Given the description of an element on the screen output the (x, y) to click on. 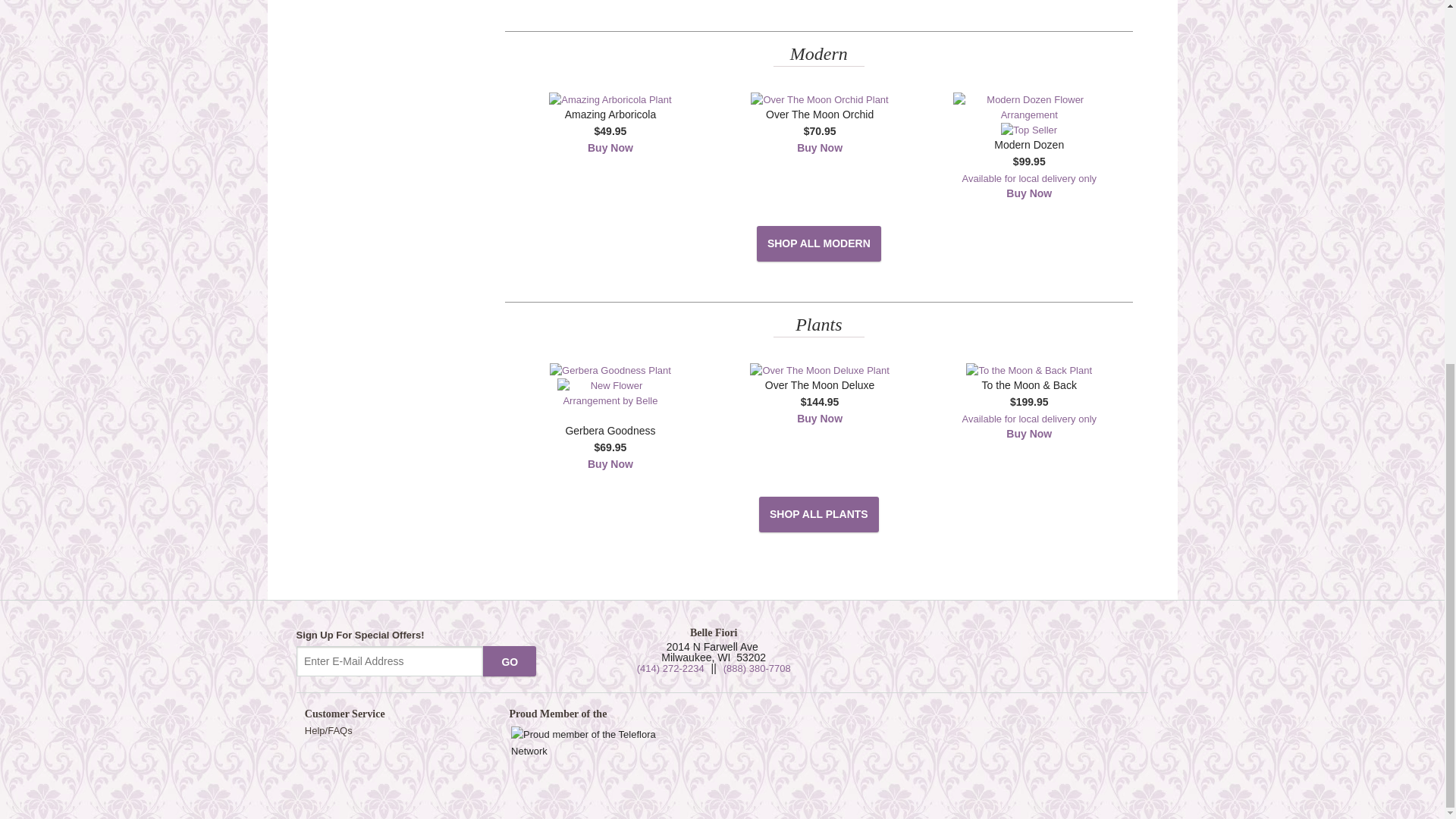
Go (509, 661)
go (509, 661)
Email Sign up (390, 661)
